Given the description of an element on the screen output the (x, y) to click on. 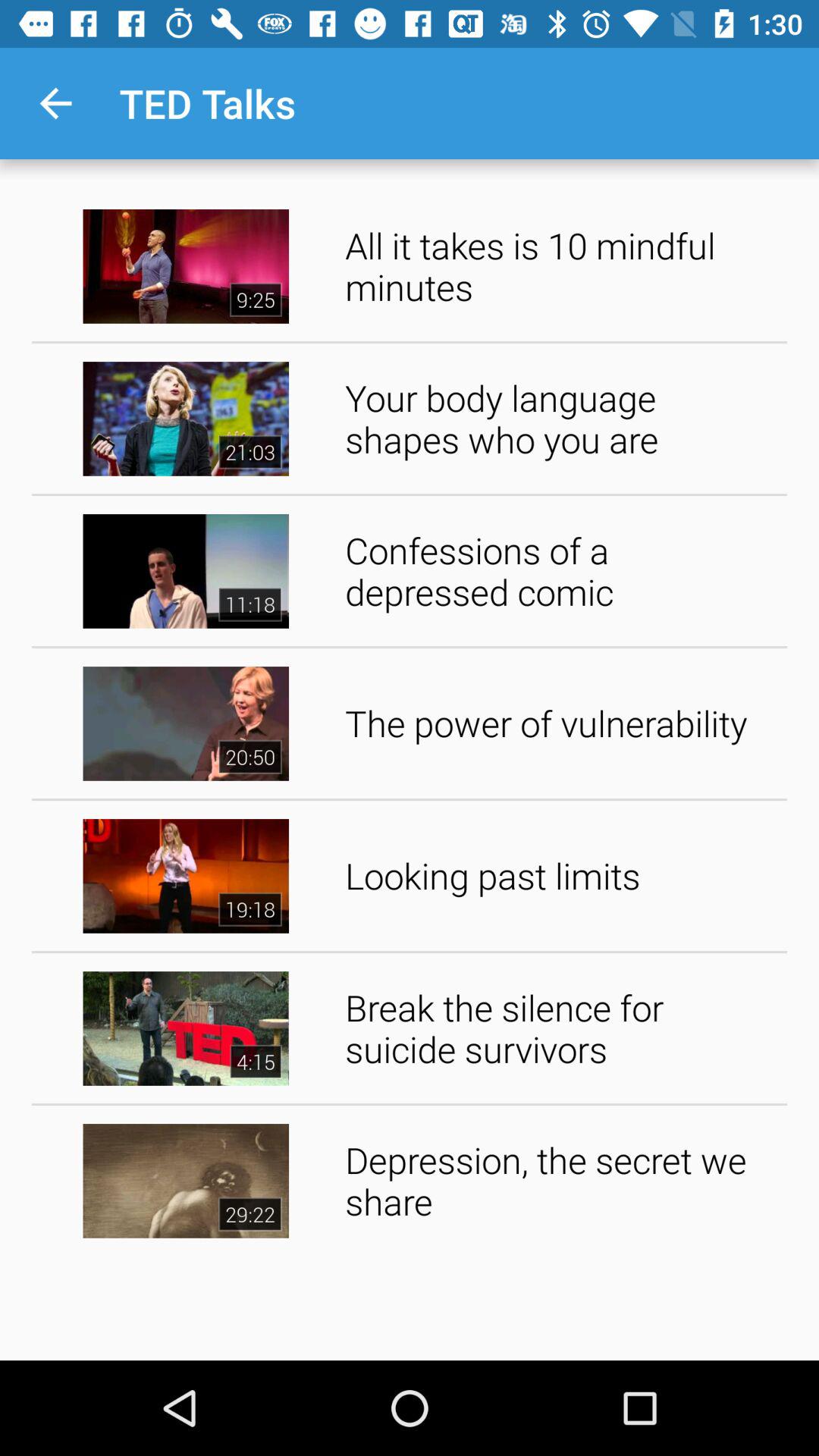
tap the looking past limits icon (560, 875)
